Given the description of an element on the screen output the (x, y) to click on. 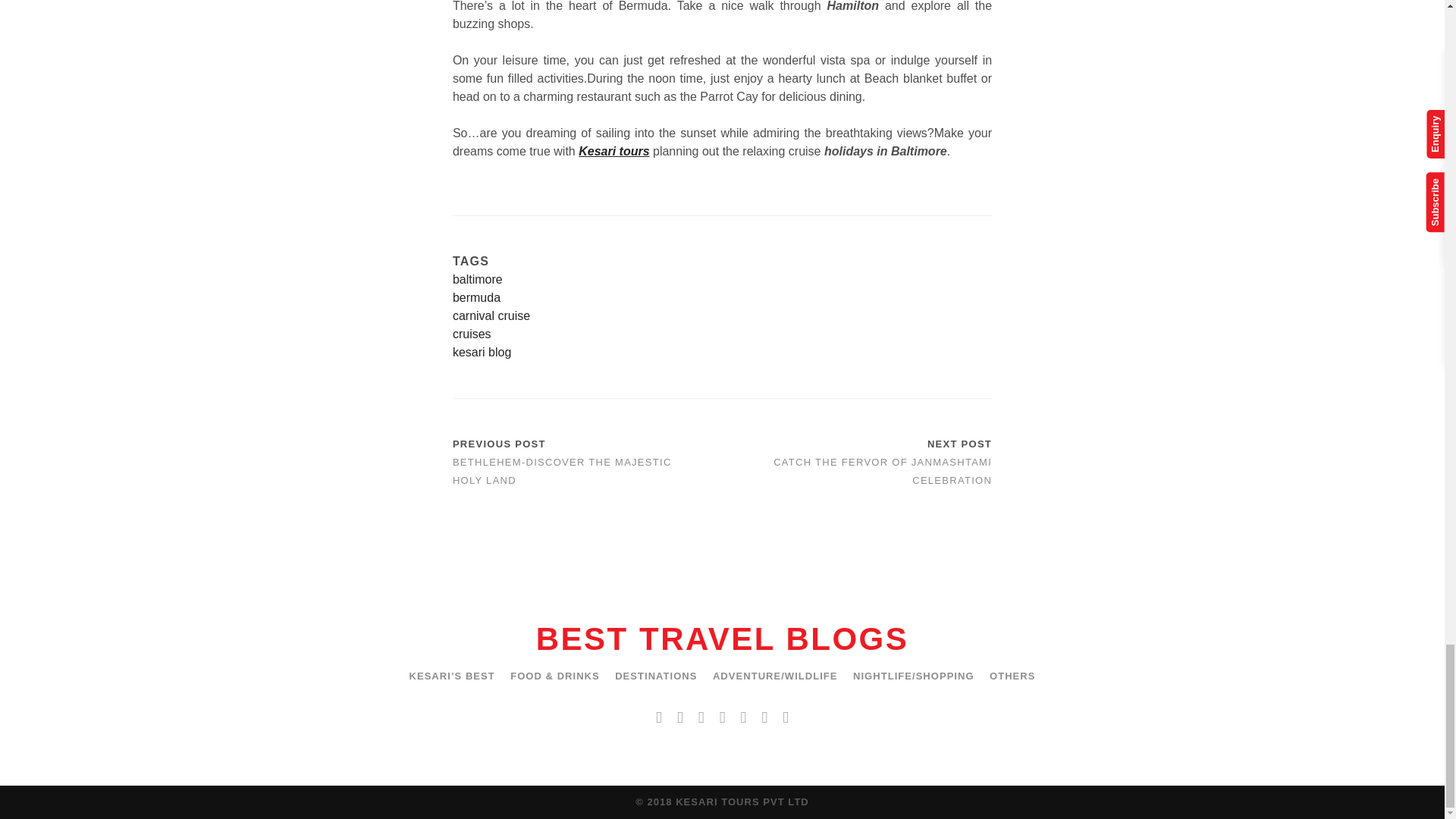
baltimore (721, 280)
bermuda (721, 298)
Kesari tours (613, 151)
